Given the description of an element on the screen output the (x, y) to click on. 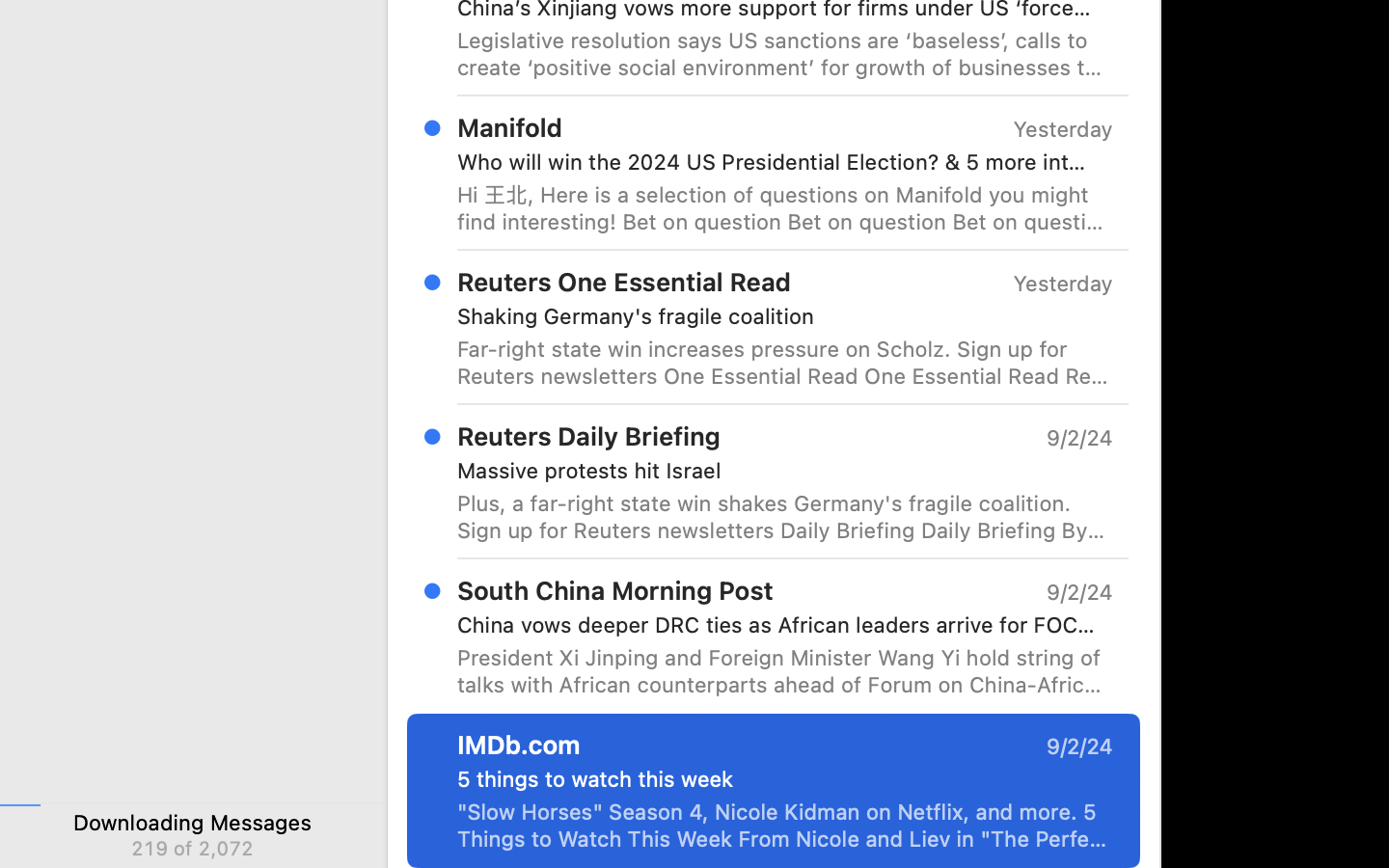
Plus, a far-right state win shakes Germany's fragile coalition. Sign up for Reuters newsletters Daily Briefing Daily Briefing By Edson Caldas Frustration is mounting over Israel's failure to secure a ceasefire deal that would free hostages. Today, we cover massive protests across the country and a general strike. Elsewhere, a far-right state win shakes Germany's fragile coalition, and a Russian missile attack rocks Kyiv and other parts of Ukraine. Plus, the latest from the Paris Paralympics. Today's Top News Hundreds of thousands protested across Israel on Sunday. REUTERS/Florion Goga War in Gaza Municipal services in several Israeli districts were disrupted today after the country's biggest labor union launched a general strike to pressure Prime Minister Benjamin Netanyahu into agreeing to a deal to bring Israeli hostages in Gaza home. Over the weekend, massive protests swept the country following the death of six hostages in Gaza. Crowds estimated by Israeli media to number up to 500 Element type: AXStaticText (784, 516)
South China Morning Post Element type: AXStaticText (615, 589)
5 things to watch this week Element type: AXStaticText (777, 778)
Far-right state win increases pressure on Scholz. Sign up for Reuters newsletters One Essential Read One Essential Read Recommended by Edson Caldas, Newsletter Editor Pressure mounts on Scholz Right-wing Alternative for Germany top candidate Bjoern Hoecke on the day of the Thuringia state election. REUTERS/Wolfgang Rattay The Alternative for Germany is on track to become the first far-right party to win a regional election in Germany since World War Two, dealing a blow to parties in Chancellor Olaf Scholz's government. The results are likely to aggravate instability in an already fractious ruling coalition, Chief Correspondent Sarah Marsh reports. The German government's faltering authority could also complicate European policy when the bloc's other major power France is still struggling to form a government. Read the full article Sponsors are not involved in the creation of newsletters or other Reuters news content. Advertise in this newsletter or on Reuters.com Reuters One Essential R Element type: AXStaticText (784, 362)
Downloading Messages Element type: AXStaticText (192, 821)
